Given the description of an element on the screen output the (x, y) to click on. 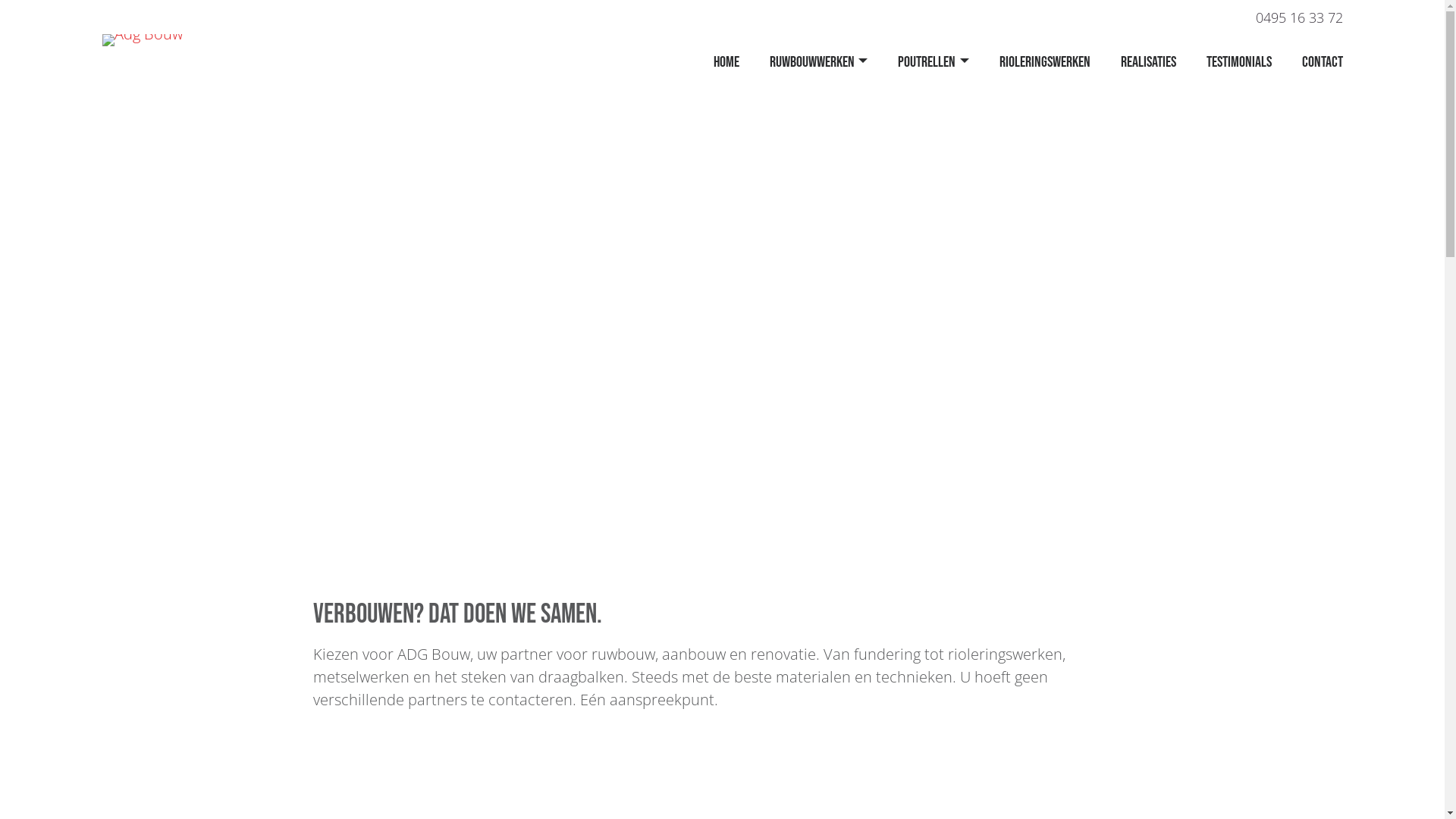
CONTACT Element type: text (1314, 62)
RIOLERINGSWERKEN Element type: text (1044, 62)
RUWBOUWWERKEN Element type: text (818, 62)
0495 16 33 72 Element type: text (1299, 17)
POUTRELLEN Element type: text (932, 62)
TESTIMONIALS Element type: text (1238, 62)
REALISATIES Element type: text (1148, 62)
HOME Element type: text (726, 62)
